Given the description of an element on the screen output the (x, y) to click on. 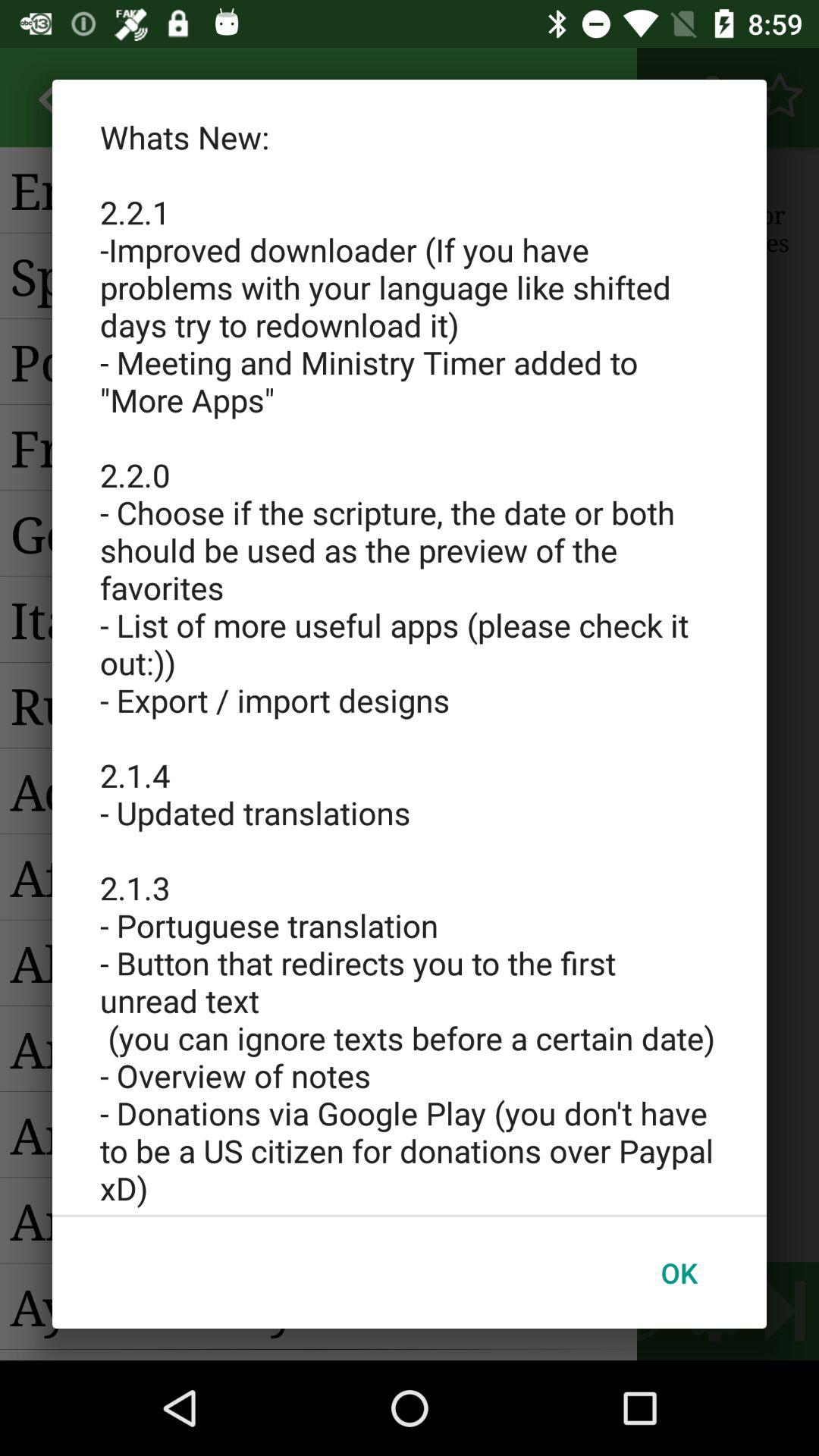
open the app below whats new 2 item (678, 1272)
